Given the description of an element on the screen output the (x, y) to click on. 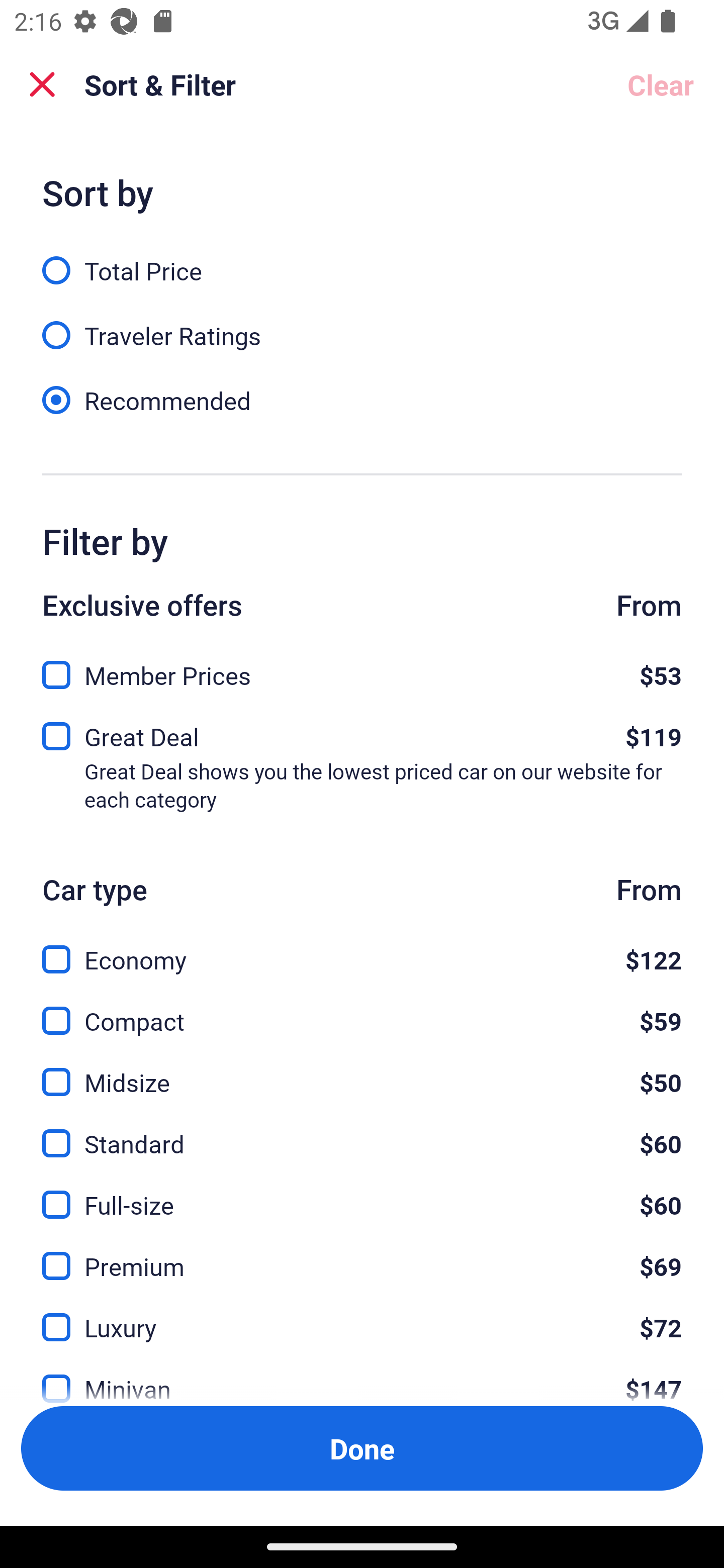
Close Sort and Filter (42, 84)
Clear (660, 84)
Total Price (361, 259)
Traveler Ratings (361, 324)
Member Prices, $53 Member Prices $53 (361, 669)
Economy, $122 Economy $122 (361, 947)
Compact, $59 Compact $59 (361, 1008)
Midsize, $50 Midsize $50 (361, 1070)
Standard, $60 Standard $60 (361, 1132)
Full-size, $60 Full-size $60 (361, 1193)
Premium, $69 Premium $69 (361, 1254)
Luxury, $72 Luxury $72 (361, 1315)
Minivan, $147 Minivan $147 (361, 1376)
Apply and close Sort and Filter Done (361, 1448)
